Given the description of an element on the screen output the (x, y) to click on. 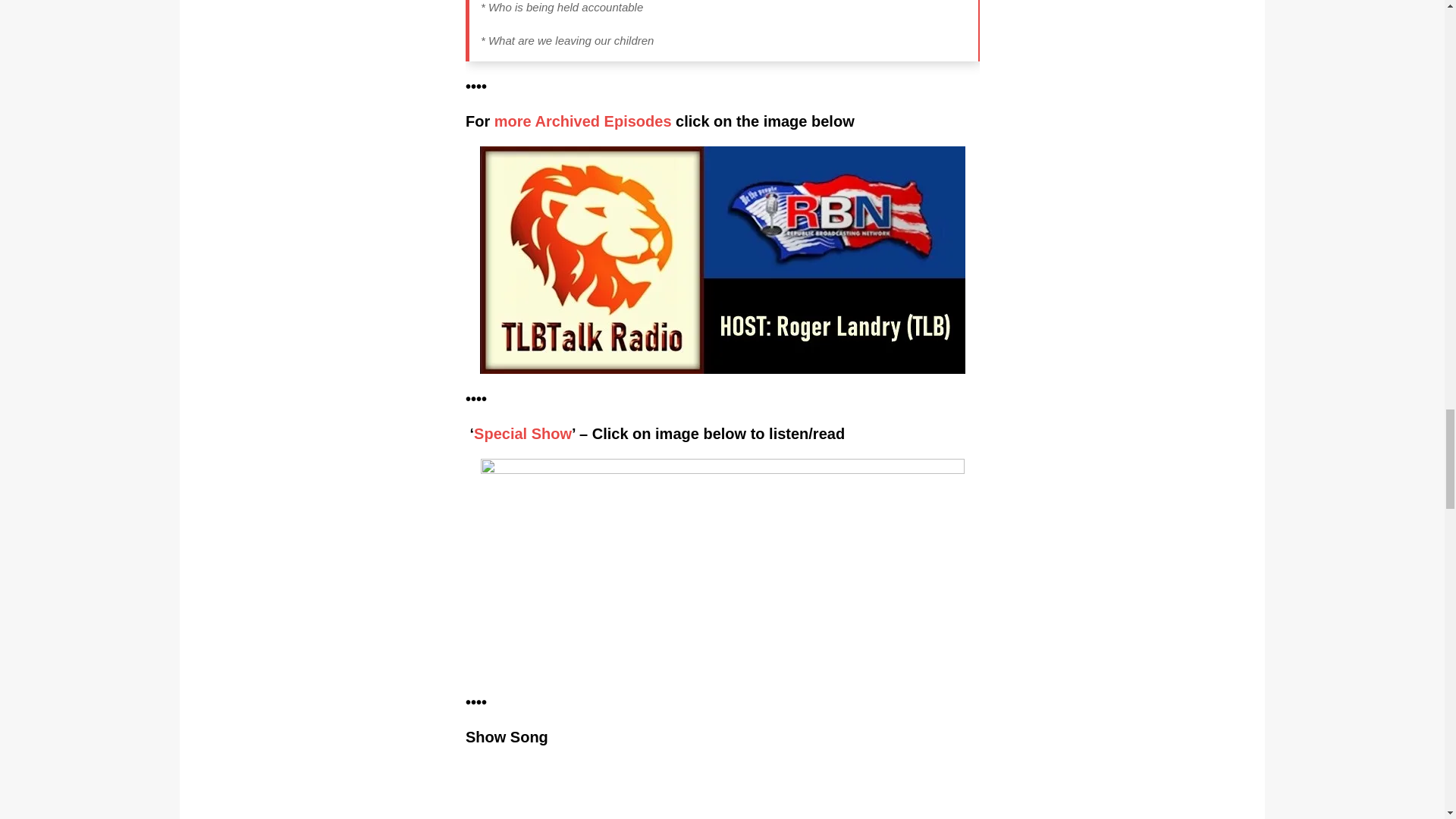
Special Show (523, 433)
more Archived Episodes (583, 121)
YouTube video player (722, 790)
